Given the description of an element on the screen output the (x, y) to click on. 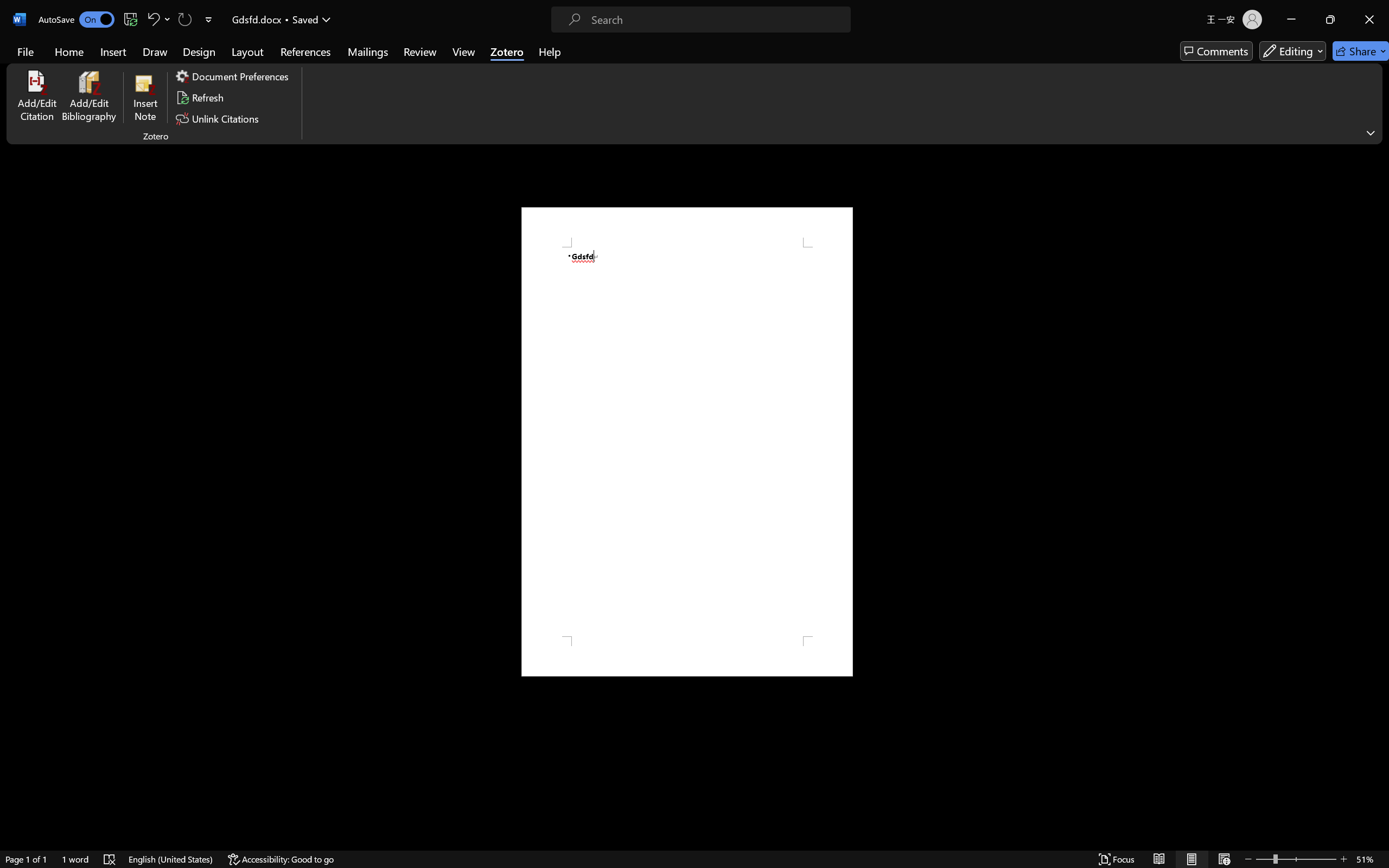
Page 1 content (686, 441)
